Given the description of an element on the screen output the (x, y) to click on. 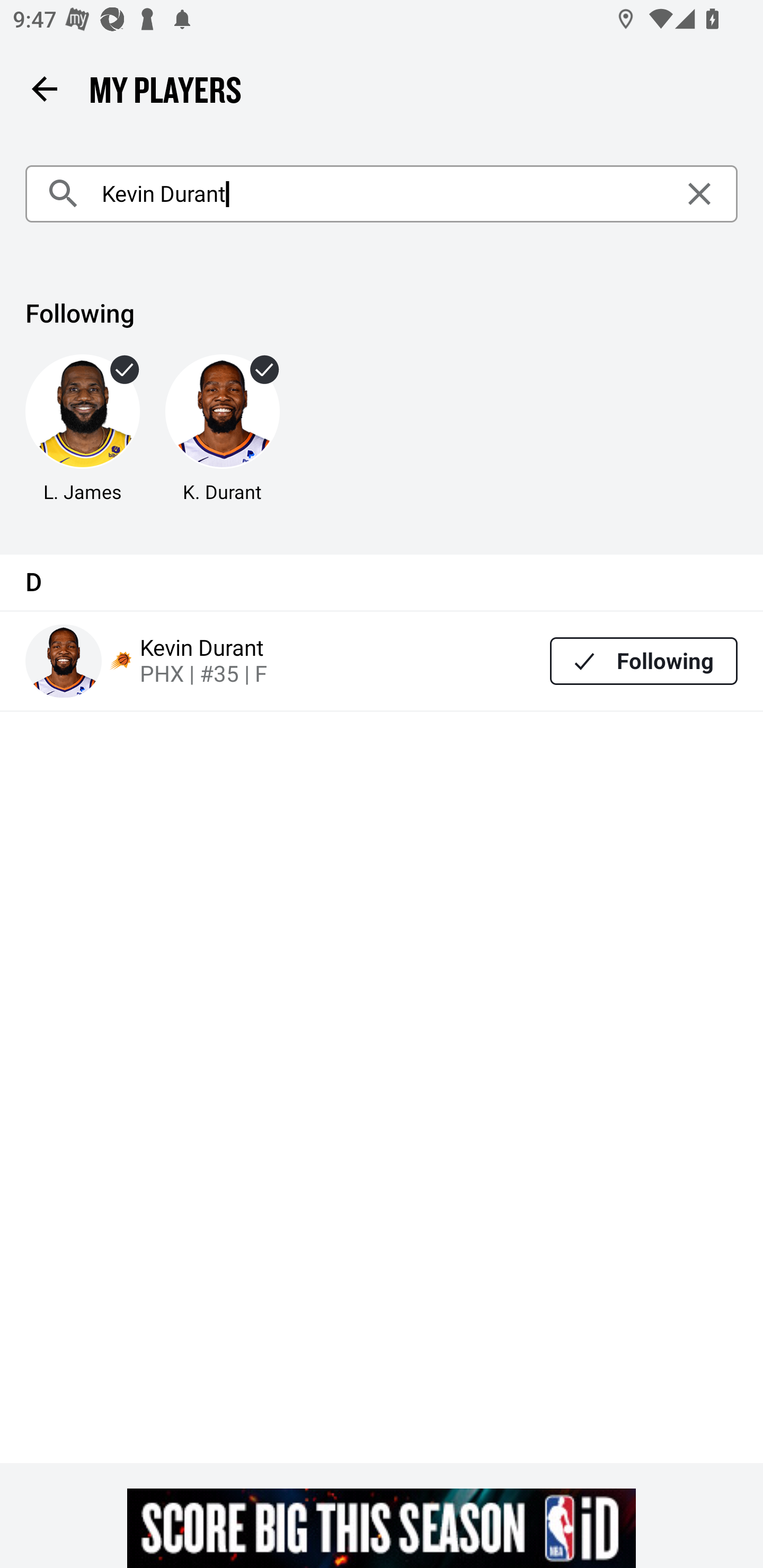
Back button (44, 88)
Kevin Durant (381, 193)
Following (643, 660)
g5nqqygr7owph (381, 1528)
